Given the description of an element on the screen output the (x, y) to click on. 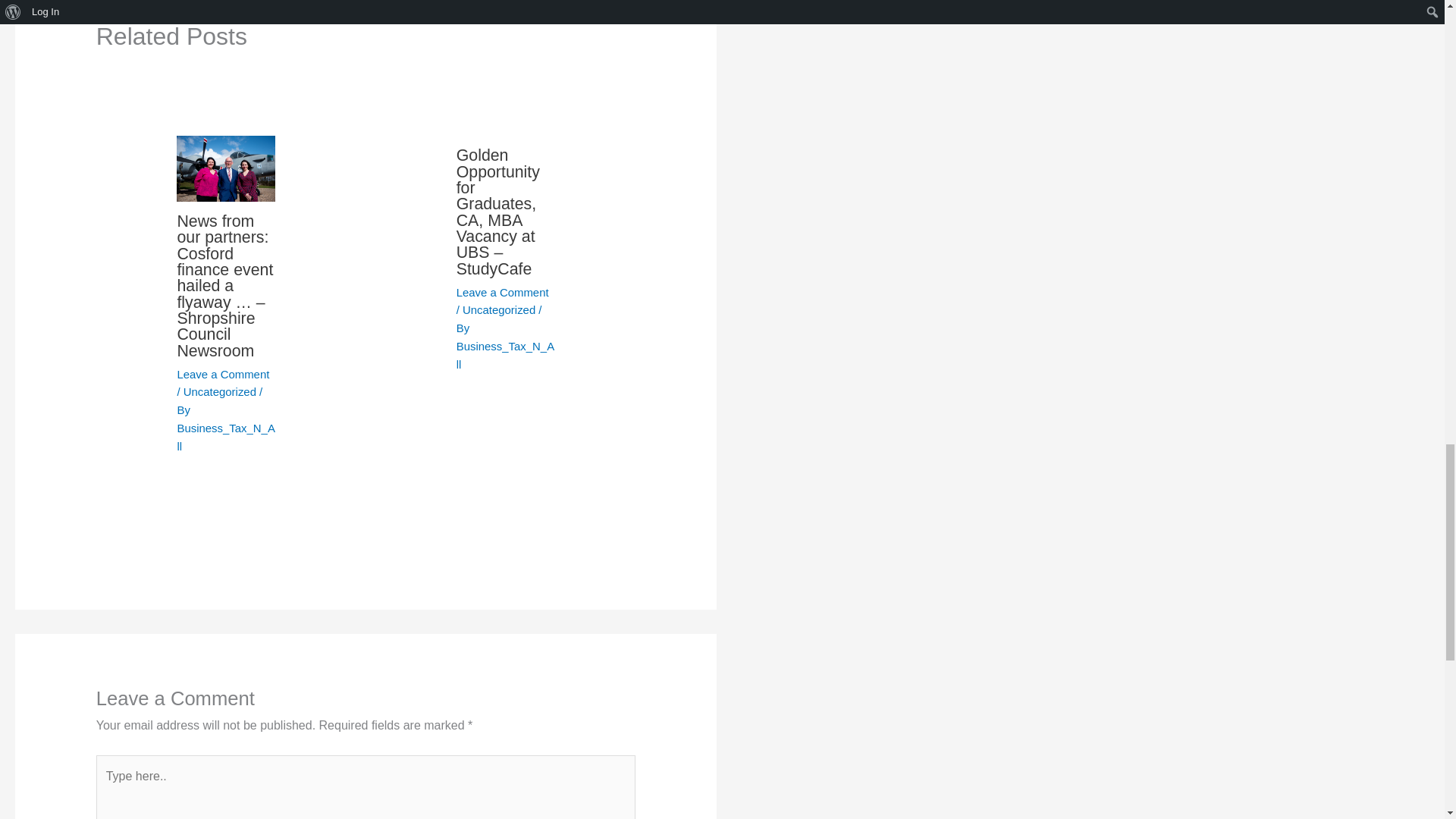
Leave a Comment (222, 373)
Uncategorized (499, 309)
Uncategorized (219, 391)
Leave a Comment (502, 291)
